Given the description of an element on the screen output the (x, y) to click on. 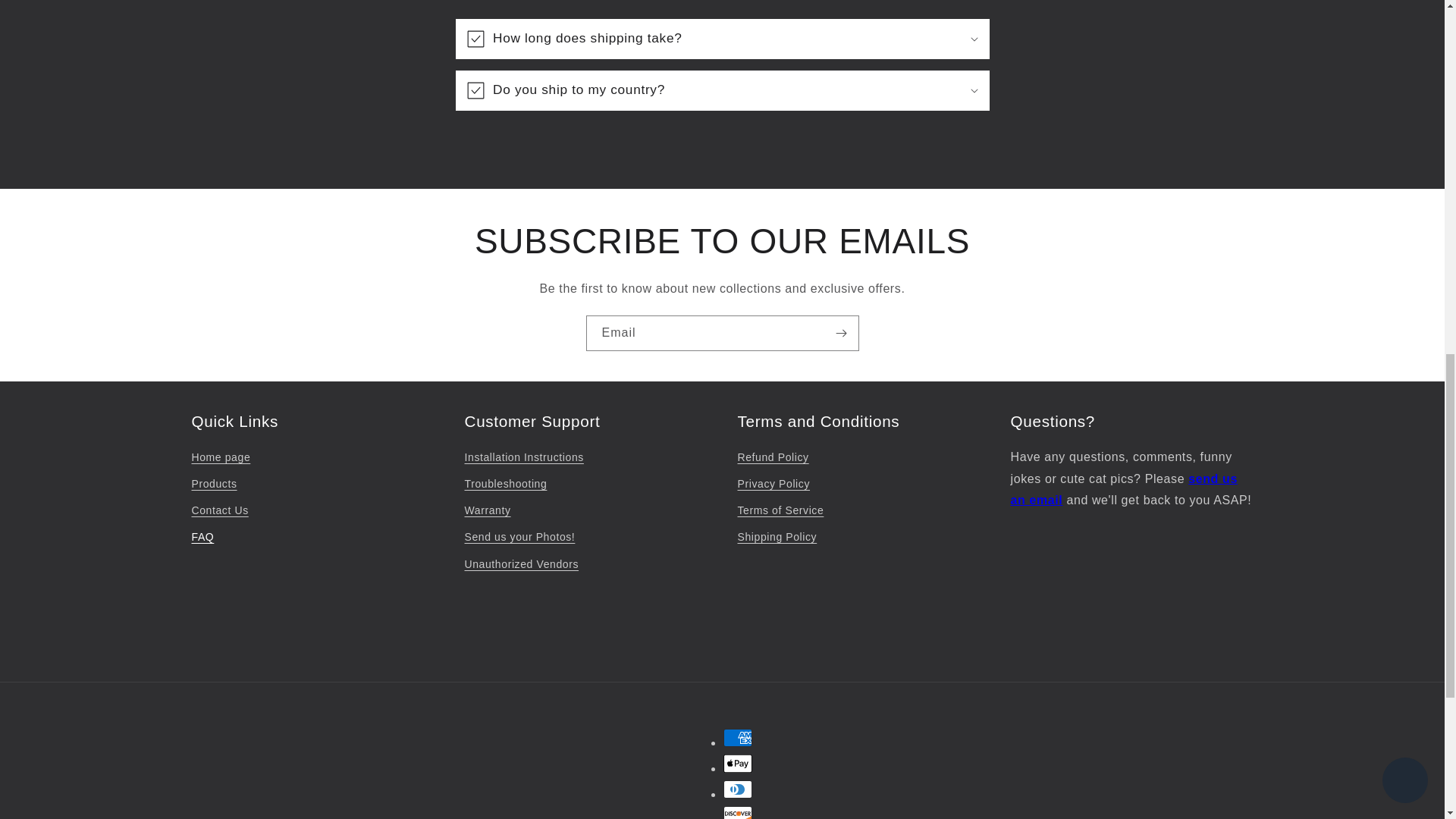
Warranty (487, 510)
Contact Us (218, 510)
Products (212, 483)
Home page (220, 458)
Contact Us! (1123, 489)
Troubleshooting (505, 483)
Installation Instructions (523, 458)
